Given the description of an element on the screen output the (x, y) to click on. 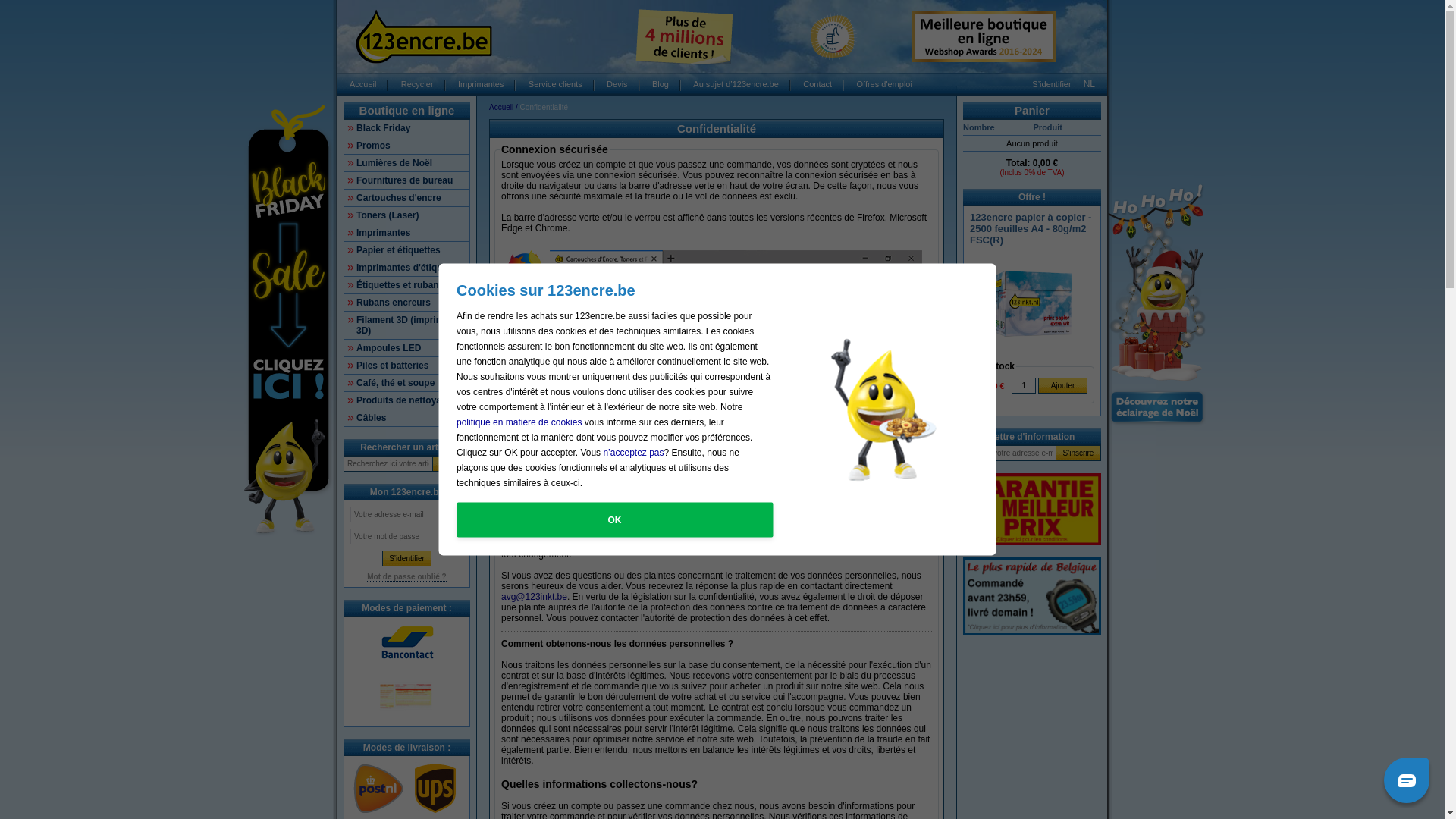
Rechercher un article Element type: text (406, 447)
Panier Element type: text (1031, 109)
Black Friday Element type: text (406, 127)
Promos Element type: text (406, 145)
Votre mot de passe Element type: hover (406, 536)
BeCommerce Element type: hover (832, 36)
Cartouches d'encre Element type: text (406, 197)
NL Element type: text (1089, 83)
Imprimantes Element type: text (480, 83)
Produits de nettoyage Element type: text (406, 400)
Ampoules LED Element type: text (406, 347)
Imprimantes Element type: text (406, 232)
Retour au service clients Element type: text (553, 398)
Contact Element type: text (817, 83)
Ajouter Element type: text (1062, 385)
 Recherchez ici votre article  Element type: hover (387, 463)
Filament 3D (imprimantes 3D) Element type: text (406, 324)
Lettre d'information Element type: text (1032, 436)
Mon 123encre.be Element type: text (406, 491)
Fournitures de bureau Element type: text (406, 180)
Devis Element type: text (617, 83)
Recycler Element type: text (417, 83)
Rubans encreurs Element type: text (406, 302)
S'inscrire Element type: text (1078, 453)
Chat Element type: hover (1406, 778)
Offres d'emploi Element type: text (883, 83)
Meilleure Boutique en Ligne Element type: hover (983, 36)
Piles et batteries Element type: text (406, 365)
PostNL Element type: hover (377, 788)
Modes de paiement : Element type: text (406, 607)
Accueil Element type: text (362, 83)
OK Element type: text (614, 519)
Modes de livraison : Element type: text (406, 747)
OK Element type: text (451, 463)
Votre adresse e-mail Element type: hover (406, 514)
Service clients Element type: text (555, 83)
Toners (Laser) Element type: text (406, 215)
Accueil Element type: text (502, 107)
Boutique en ligne Element type: text (407, 109)
Blog Element type: text (660, 83)
UPS Element type: hover (434, 788)
avg@123inkt.be Element type: text (534, 596)
